Given the description of an element on the screen output the (x, y) to click on. 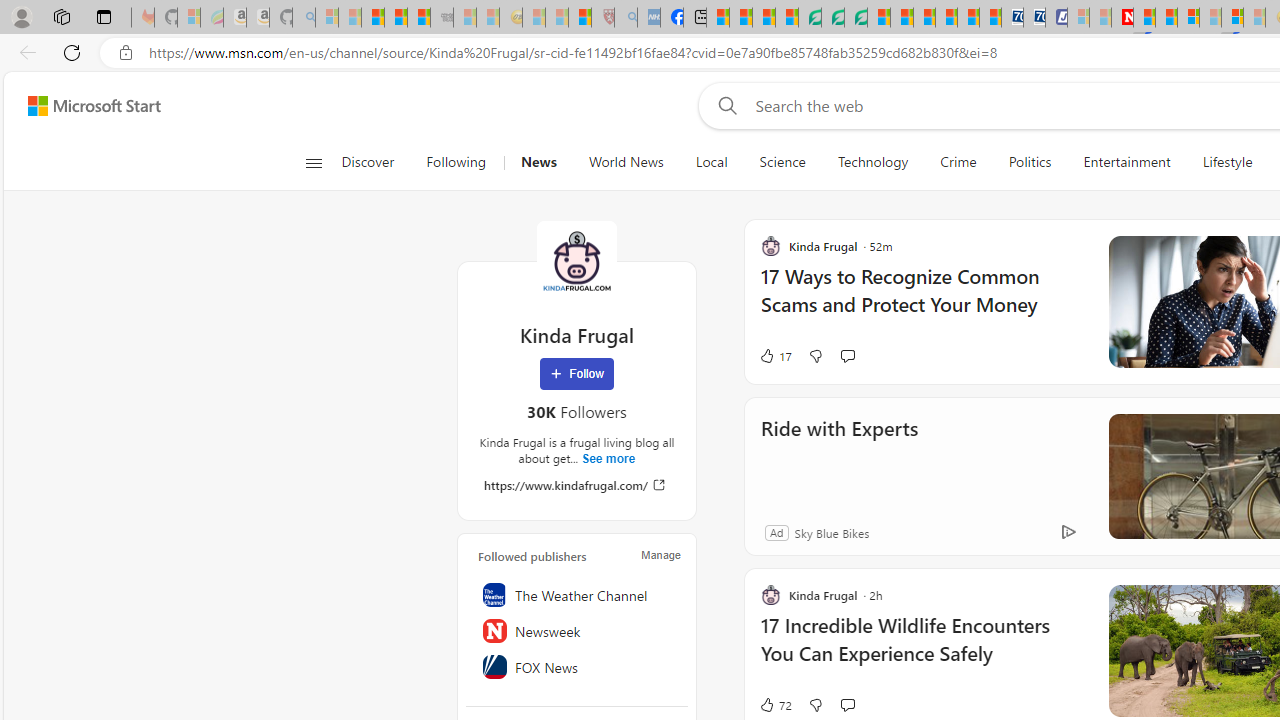
Microsoft Start - Sleeping (1100, 17)
Start the conversation (847, 704)
Discover (367, 162)
Recipes - MSN - Sleeping (534, 17)
Skip to content (86, 105)
Entertainment (1126, 162)
Ad Choice (1068, 532)
LendingTree - Compare Lenders (809, 17)
FOX News (577, 667)
Local - MSN (580, 17)
Lifestyle (1227, 162)
